Given the description of an element on the screen output the (x, y) to click on. 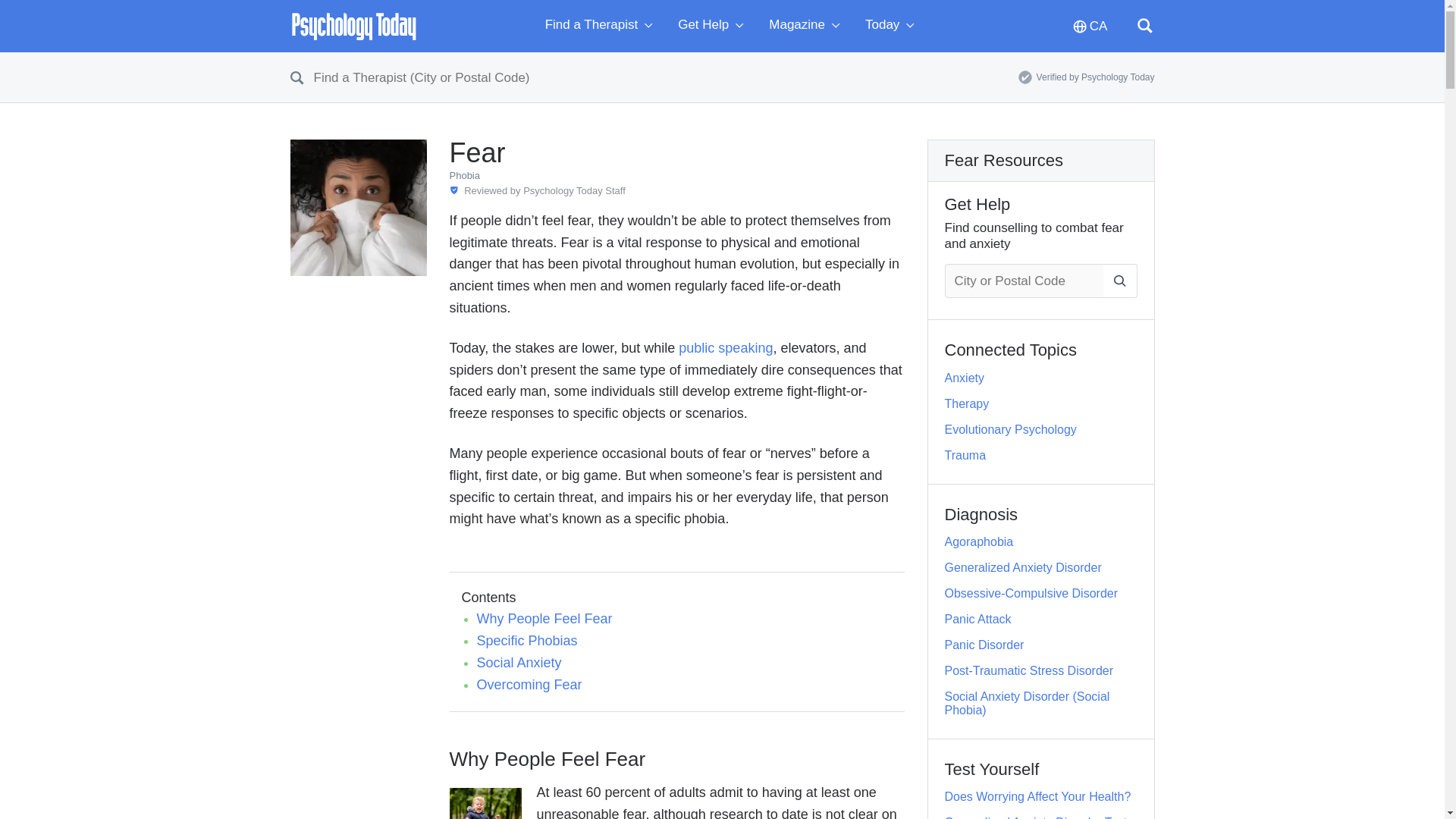
Psychology Today (352, 25)
Find a Therapist (602, 25)
Get Help (714, 25)
